Given the description of an element on the screen output the (x, y) to click on. 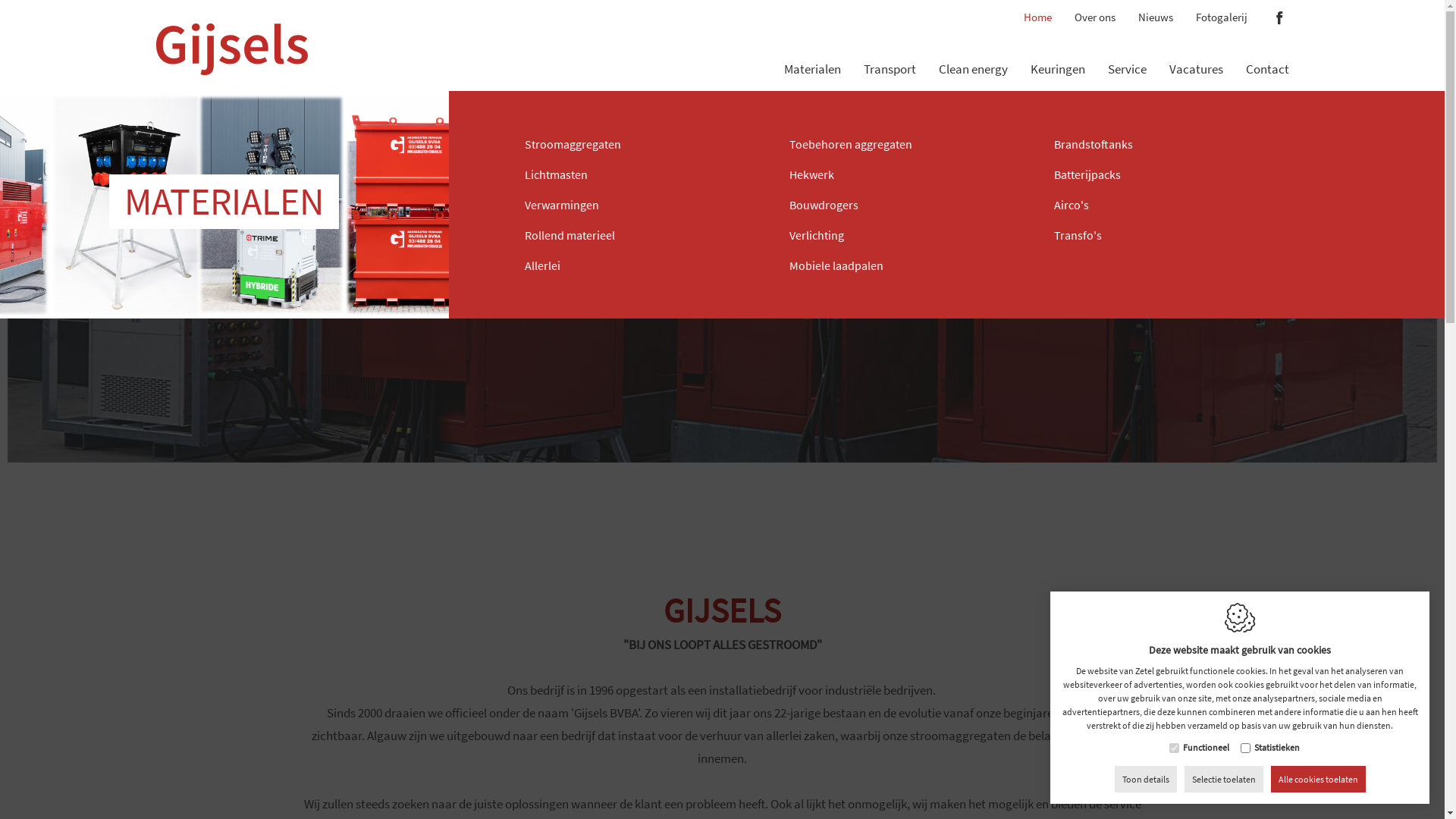
Materialen Element type: text (812, 47)
Airco's Element type: text (1167, 206)
Keuringen Element type: text (1056, 47)
Over ons Element type: text (1093, 13)
Contact Element type: text (1266, 47)
Stroomaggregaten Element type: text (637, 145)
Batterijpacks Element type: text (1167, 176)
Mobiele laadpalen Element type: text (902, 267)
Toebehoren aggregaten Element type: text (902, 145)
Verlichting Element type: text (902, 236)
Lichtmasten Element type: text (637, 176)
Transfo's Element type: text (1167, 236)
Transport Element type: text (888, 47)
Bouwdrogers Element type: text (902, 206)
Selectie toelaten Element type: text (1223, 778)
Allerlei Element type: text (637, 267)
Fotogalerij Element type: text (1220, 13)
Home Element type: text (1037, 13)
Clean energy Element type: text (972, 47)
Service Element type: text (1126, 47)
Hekwerk Element type: text (902, 176)
Brandstoftanks Element type: text (1167, 145)
Vacatures Element type: text (1196, 47)
Nieuws Element type: text (1154, 13)
Rollend materieel Element type: text (637, 236)
Verwarmingen Element type: text (637, 206)
Alle cookies toelaten Element type: text (1317, 778)
